Given the description of an element on the screen output the (x, y) to click on. 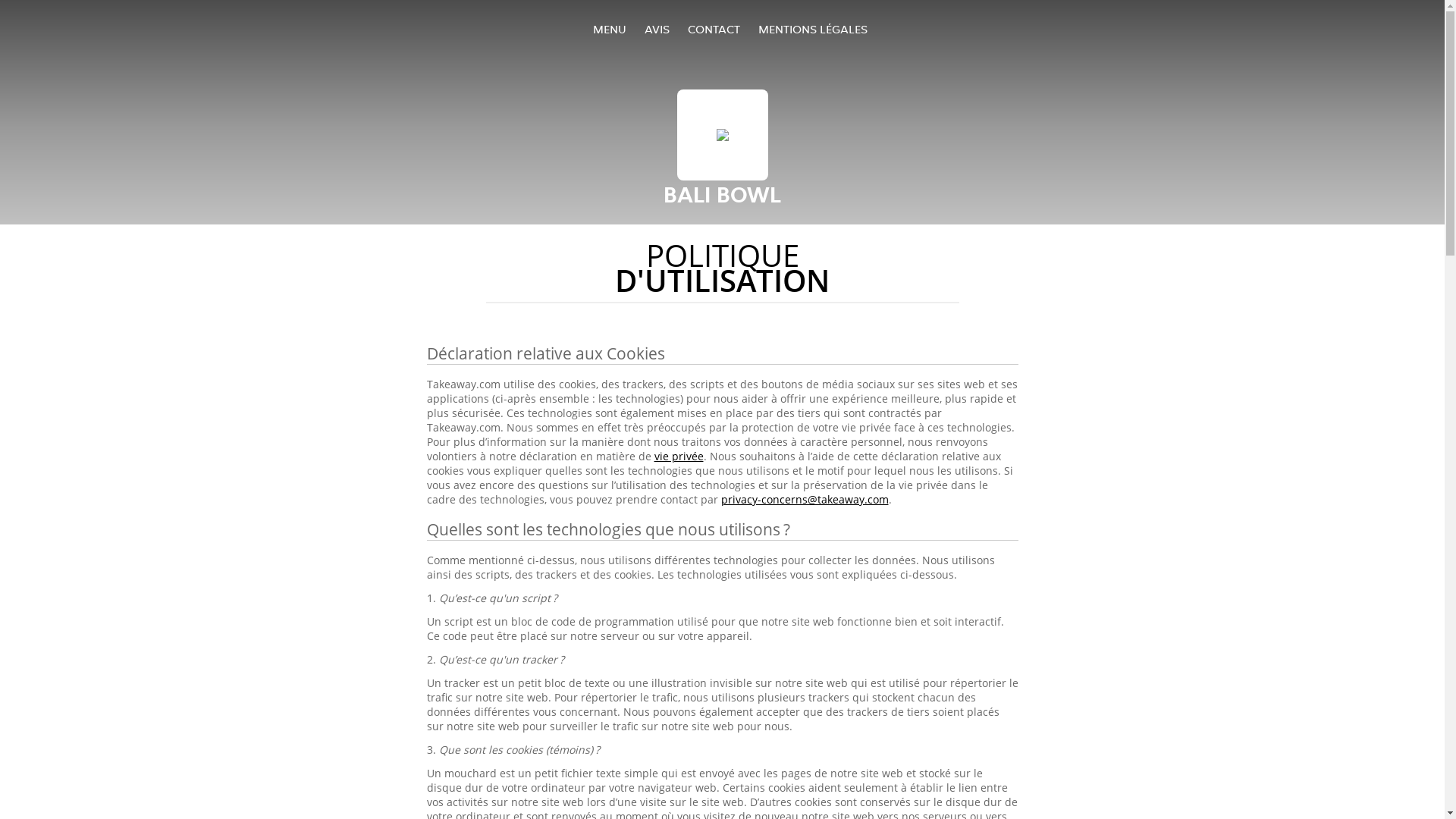
MENU Element type: text (609, 29)
CONTACT Element type: text (713, 29)
AVIS Element type: text (656, 29)
privacy-concerns@takeaway.com Element type: text (804, 499)
